Given the description of an element on the screen output the (x, y) to click on. 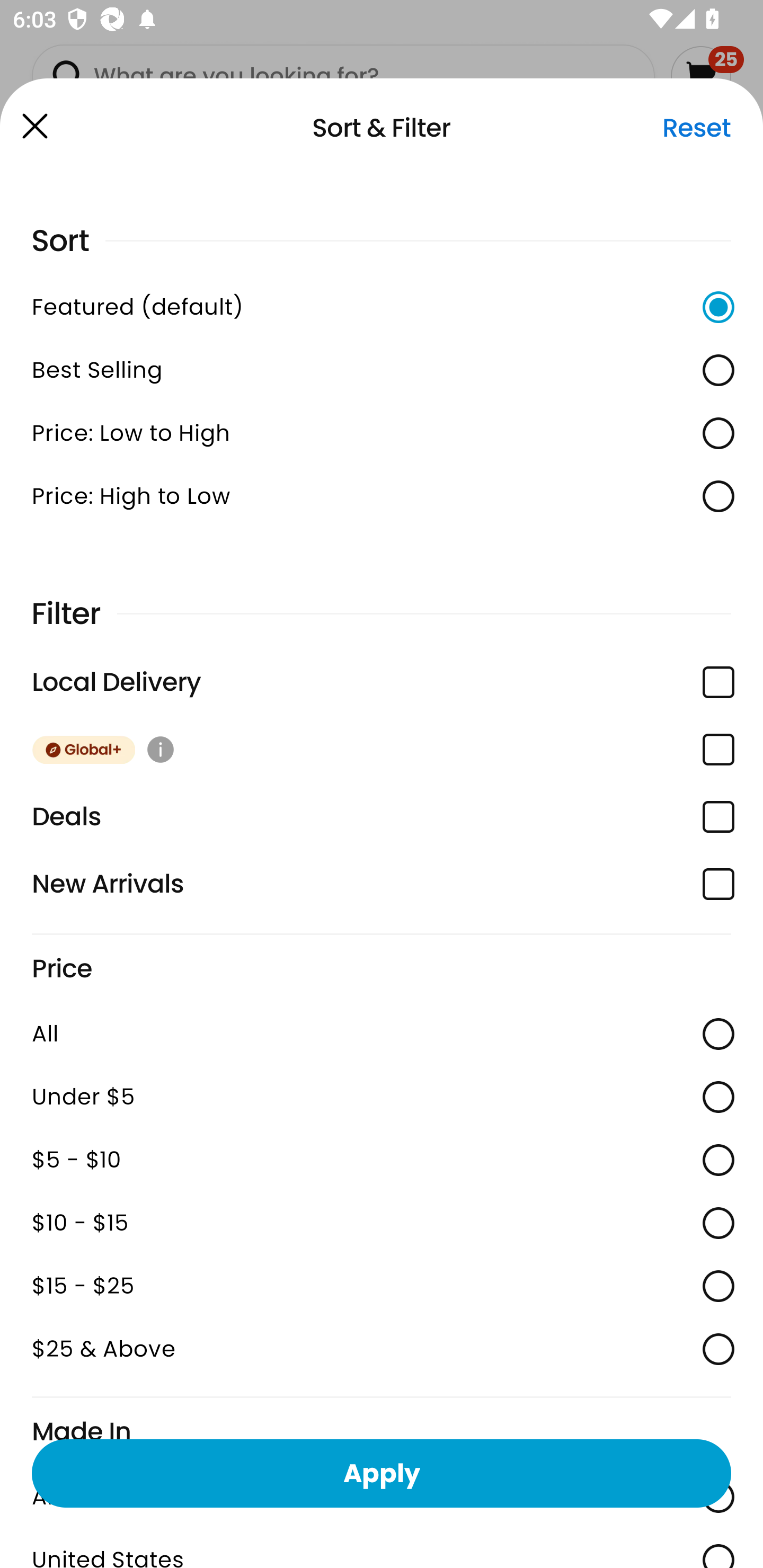
Reset (696, 127)
Apply (381, 1472)
